Given the description of an element on the screen output the (x, y) to click on. 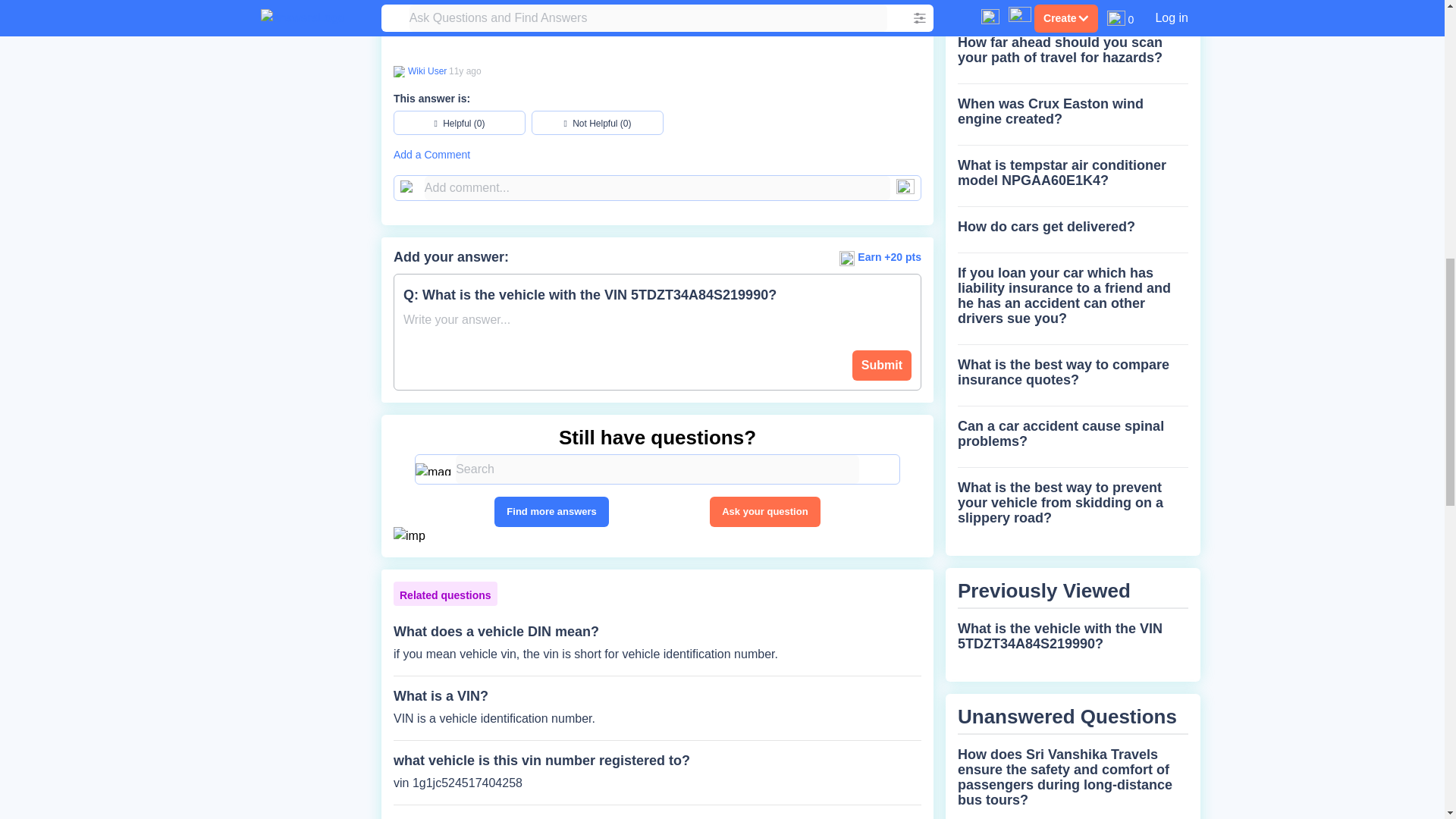
Find more answers (551, 511)
Add a Comment (657, 154)
2013-03-22 18:50:36 (464, 71)
